Given the description of an element on the screen output the (x, y) to click on. 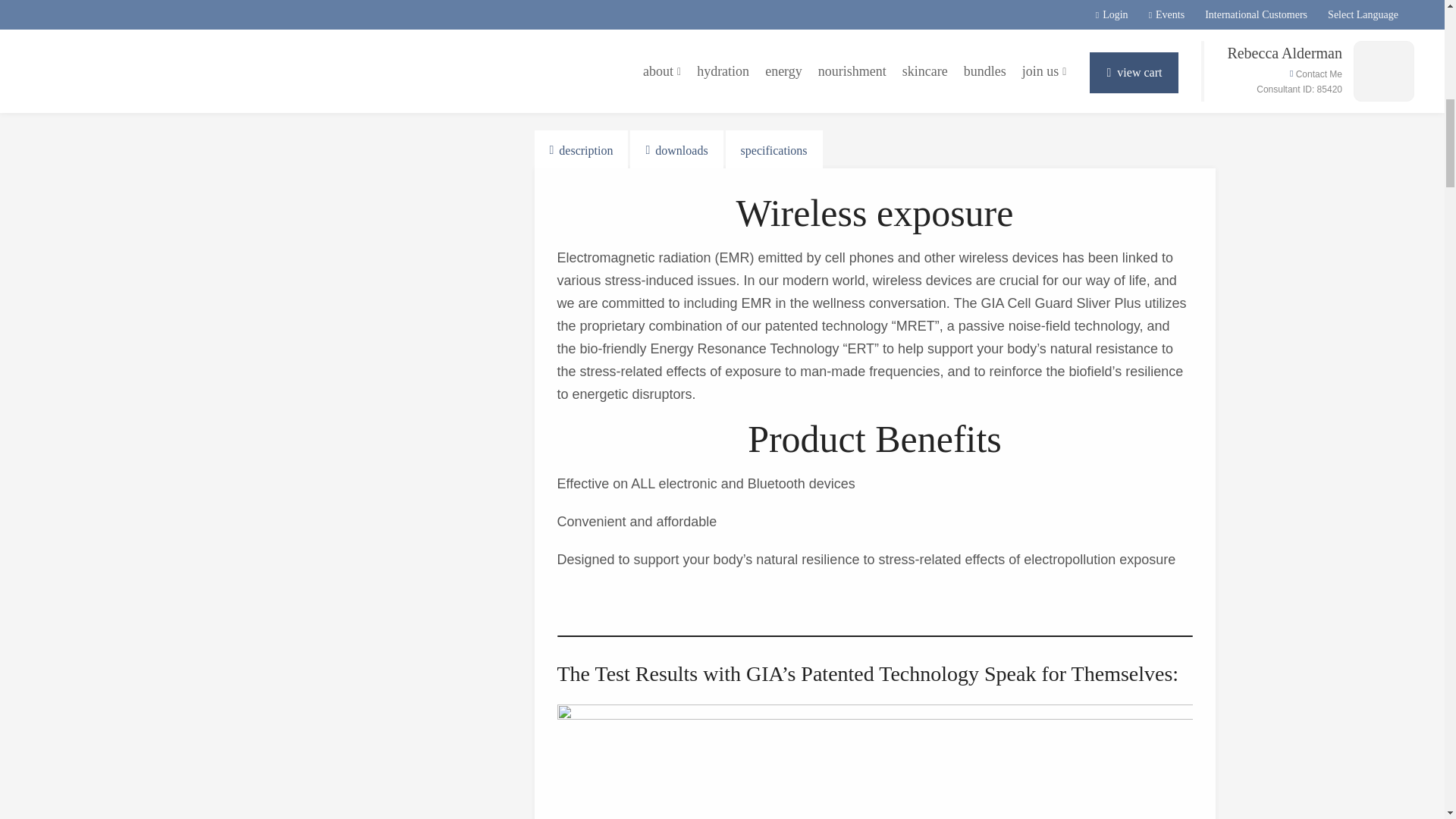
specifications (773, 149)
description (580, 149)
downloads (676, 149)
